Given the description of an element on the screen output the (x, y) to click on. 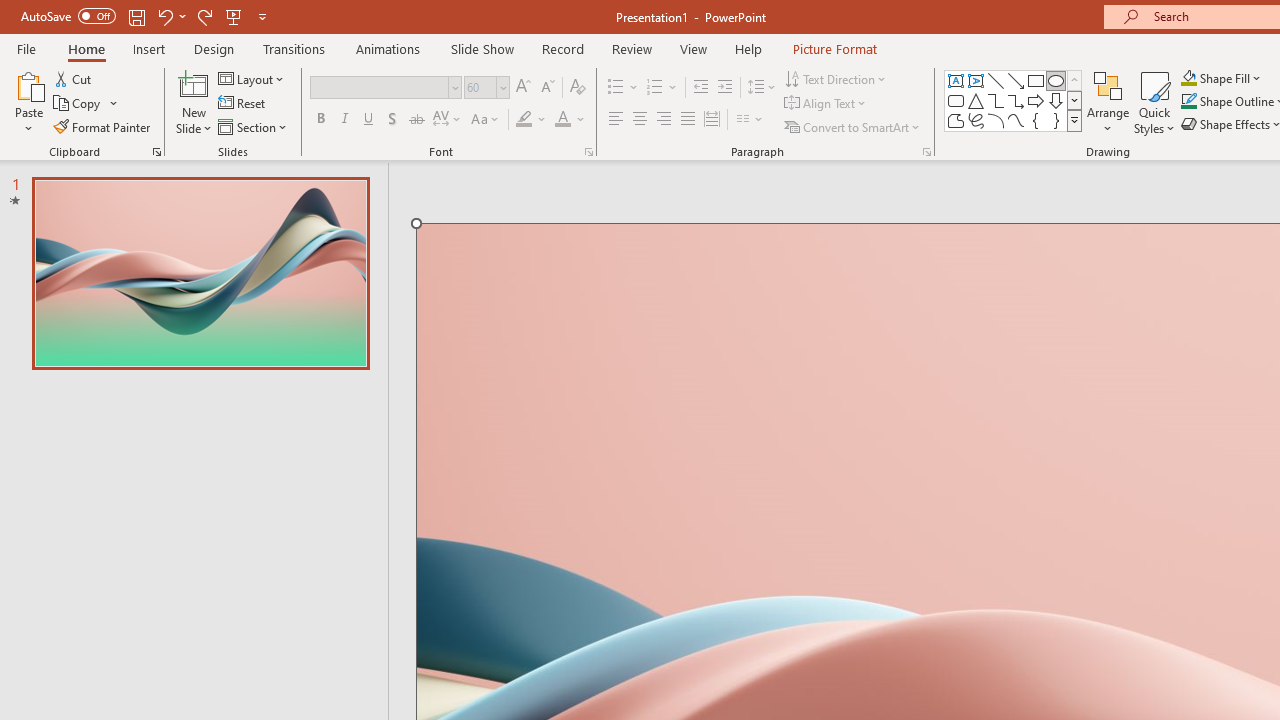
Shape Fill Orange, Accent 2 (1188, 78)
